Given the description of an element on the screen output the (x, y) to click on. 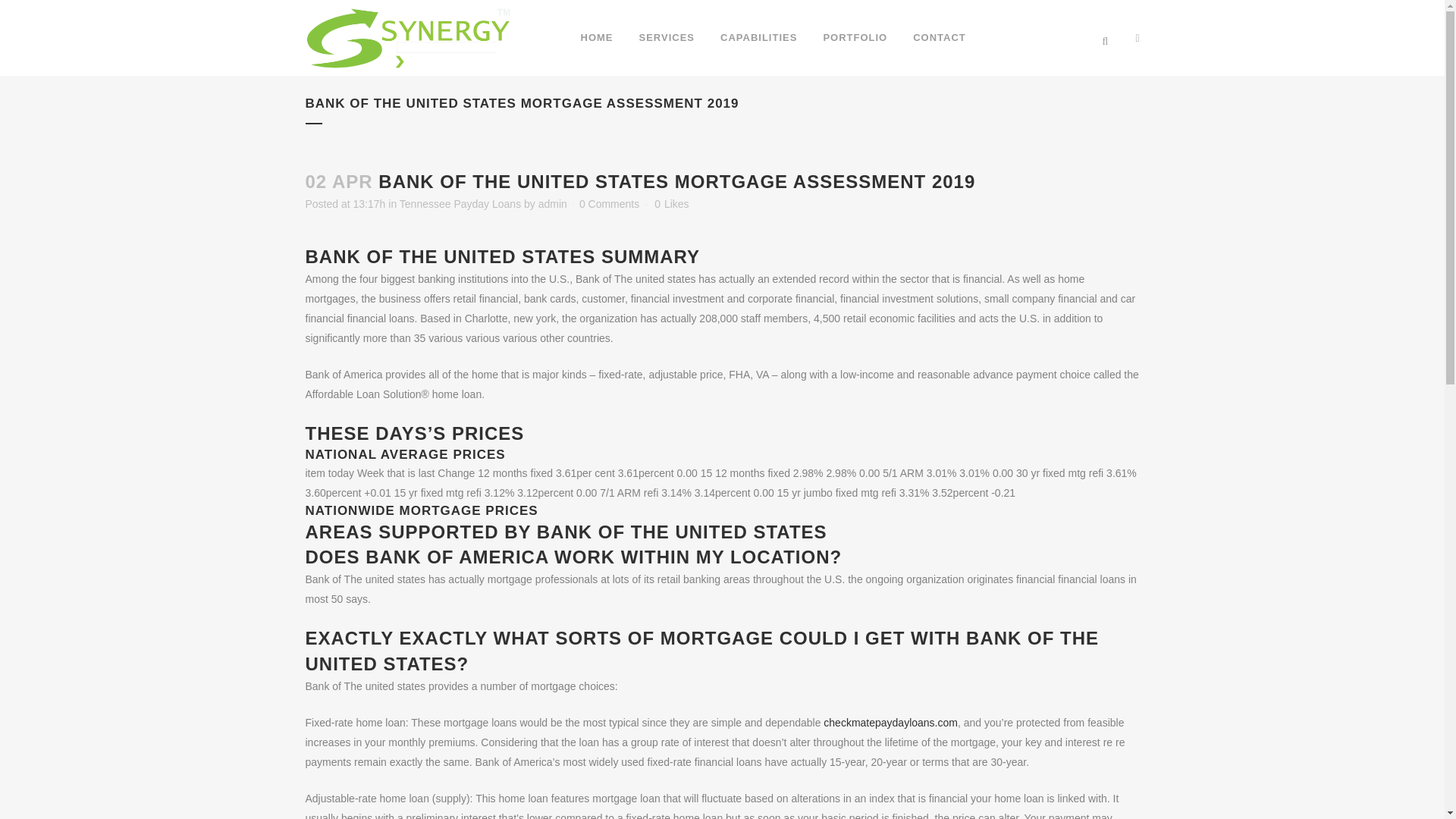
CONTACT (938, 38)
Tennessee Payday Loans (459, 203)
SERVICES (666, 38)
0 Likes (670, 204)
0 Comments (609, 203)
CAPABILITIES (758, 38)
PORTFOLIO (854, 38)
admin (552, 203)
Like this (670, 204)
checkmatepaydayloans.com (891, 722)
HOME (596, 38)
09 486 2278 (1035, 38)
